Given the description of an element on the screen output the (x, y) to click on. 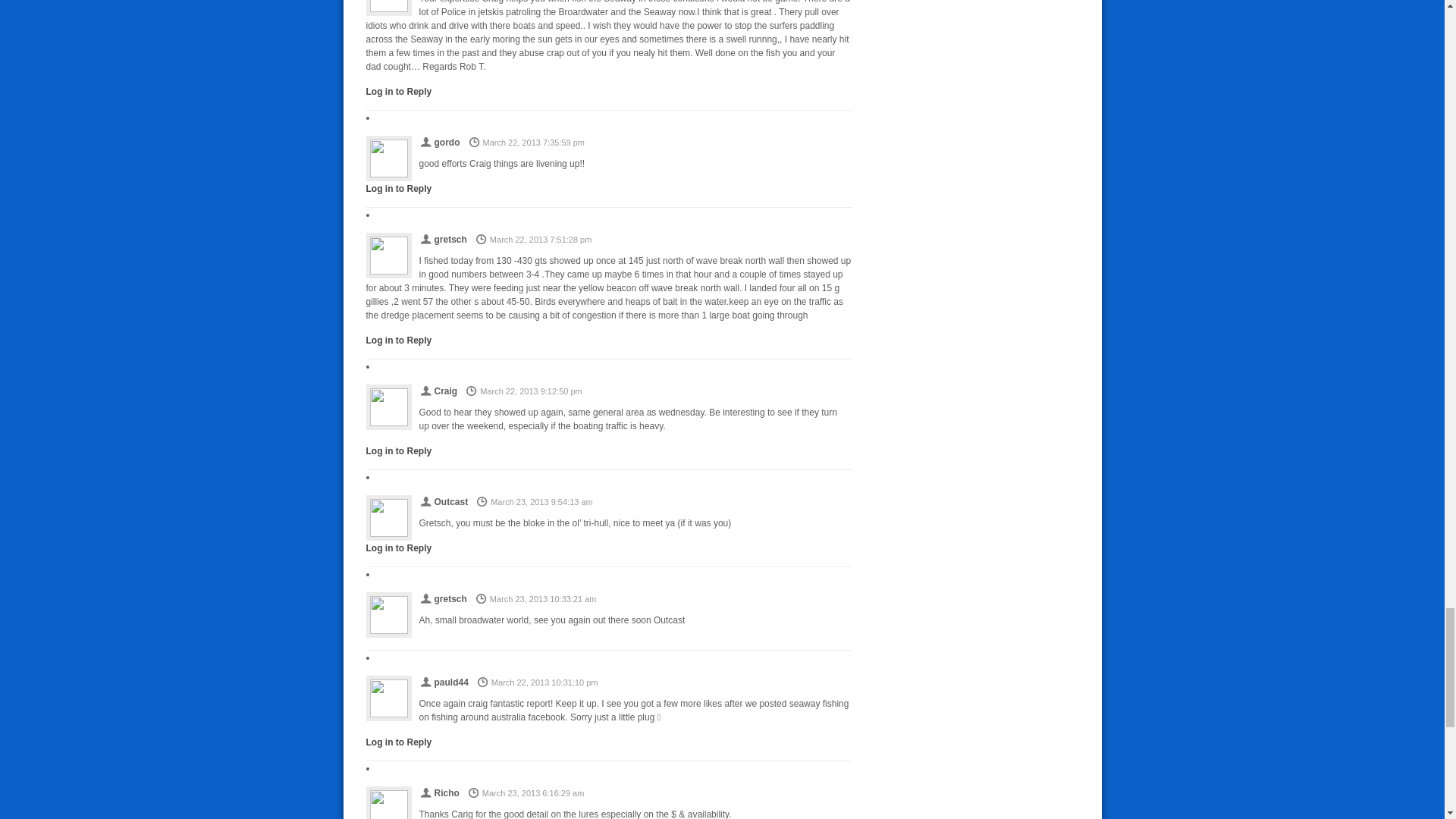
Log in to Reply (397, 91)
Log in to Reply (397, 450)
Log in to Reply (397, 188)
Log in to Reply (397, 339)
